Given the description of an element on the screen output the (x, y) to click on. 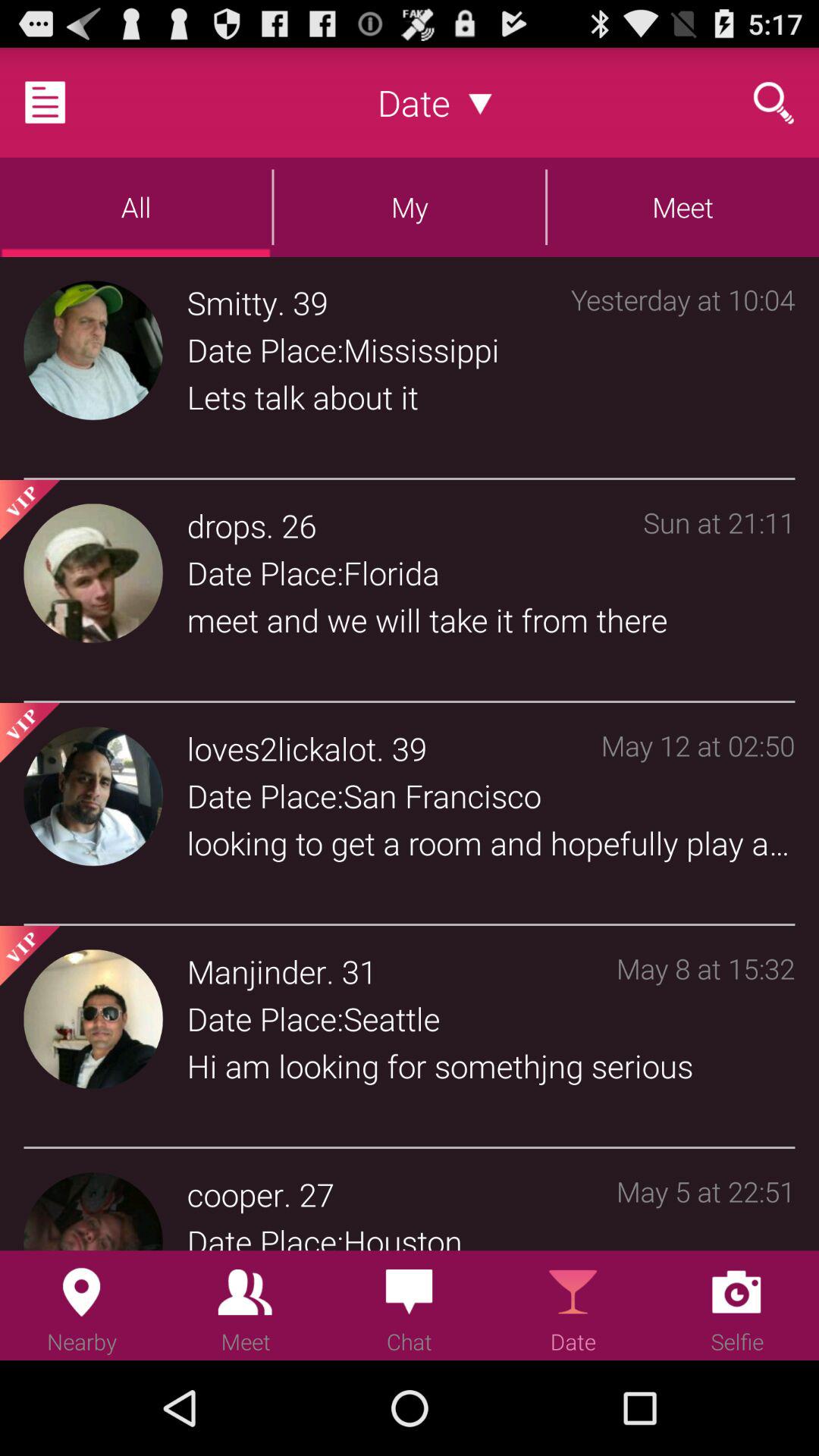
turn off the icon next to the date place:mississippi item (683, 370)
